Given the description of an element on the screen output the (x, y) to click on. 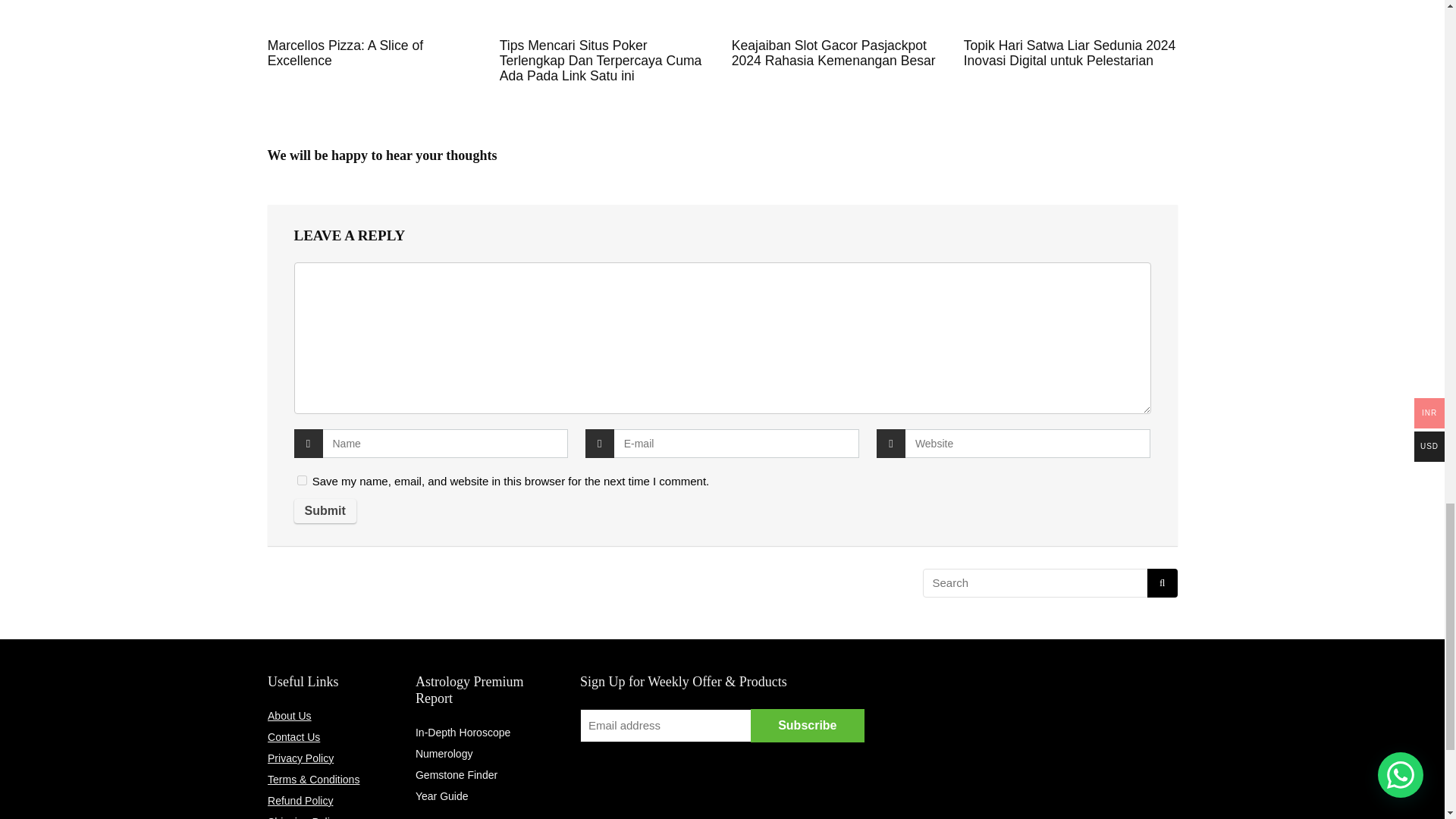
Marcellos Pizza: A Slice of Excellence (345, 52)
Submit (325, 510)
yes (302, 480)
Shipping Policy (303, 817)
Subscribe (807, 725)
Contact Us (293, 736)
Subscribe (807, 725)
About Us (289, 715)
Privacy Policy (300, 758)
Refund Policy (300, 800)
Submit (325, 510)
